Given the description of an element on the screen output the (x, y) to click on. 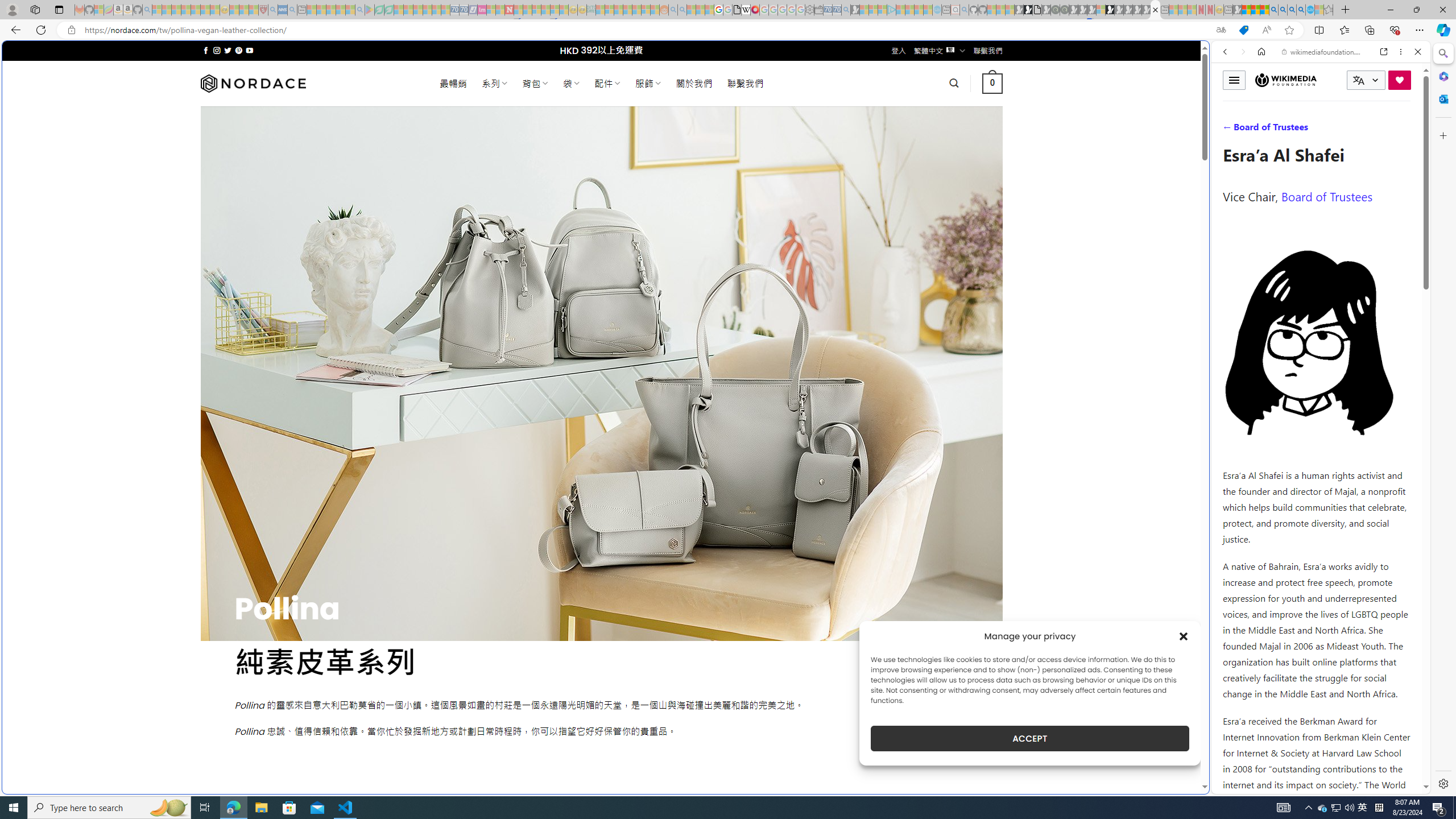
14 Common Myths Debunked By Scientific Facts - Sleeping (527, 9)
Close Customize pane (1442, 135)
Search Filter, Search Tools (1350, 129)
Settings (1442, 783)
World - MSN (727, 389)
Web scope (1230, 102)
Side bar (1443, 418)
Search Filter, IMAGES (1262, 129)
Local - MSN - Sleeping (253, 9)
Follow on Twitter (227, 50)
